Given the description of an element on the screen output the (x, y) to click on. 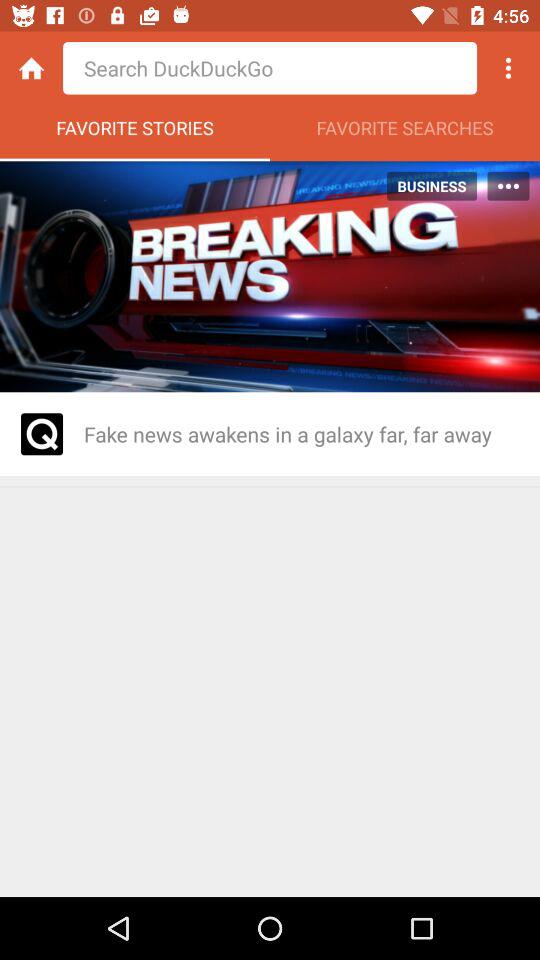
press item above favorite stories app (269, 67)
